Given the description of an element on the screen output the (x, y) to click on. 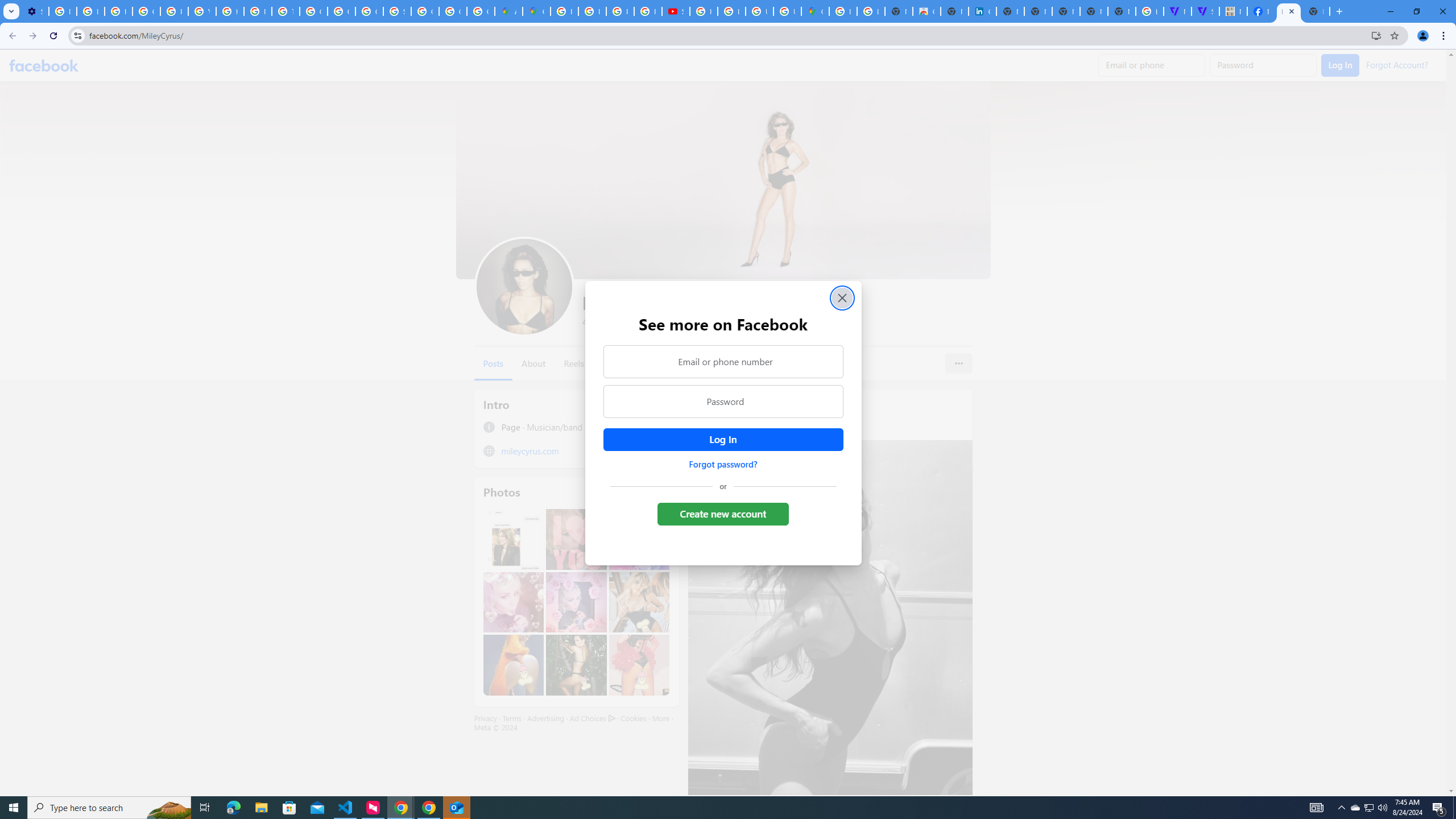
Privacy Help Center - Policies Help (592, 11)
Create new account (722, 513)
https://scholar.google.com/ (229, 11)
Settings - Customize profile (34, 11)
New Tab (1316, 11)
MILEY CYRUS. (1233, 11)
Miley Cyrus | Facebook (1260, 11)
Streaming - The Verge (1205, 11)
